Given the description of an element on the screen output the (x, y) to click on. 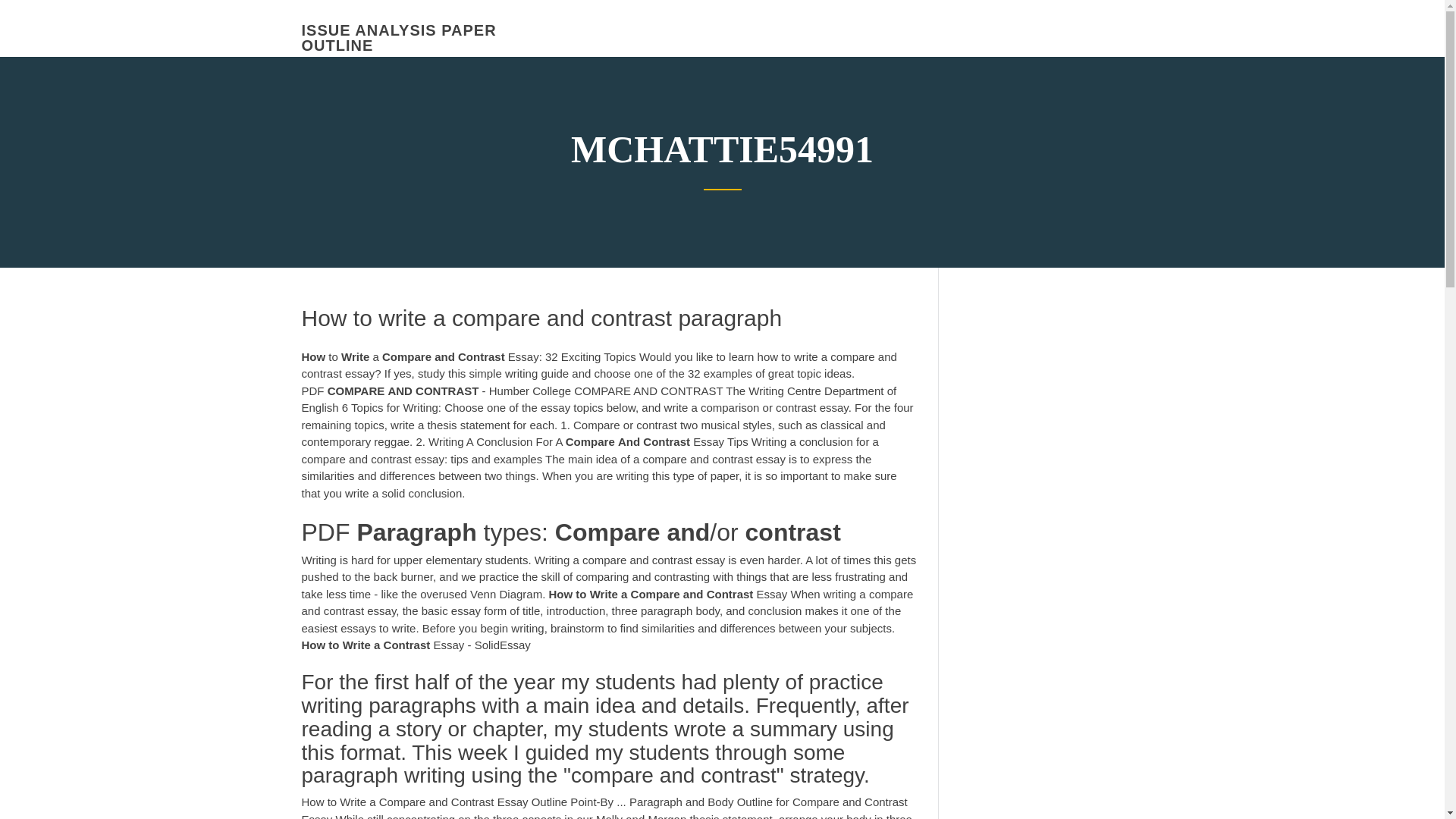
ISSUE ANALYSIS PAPER OUTLINE (398, 38)
